Given the description of an element on the screen output the (x, y) to click on. 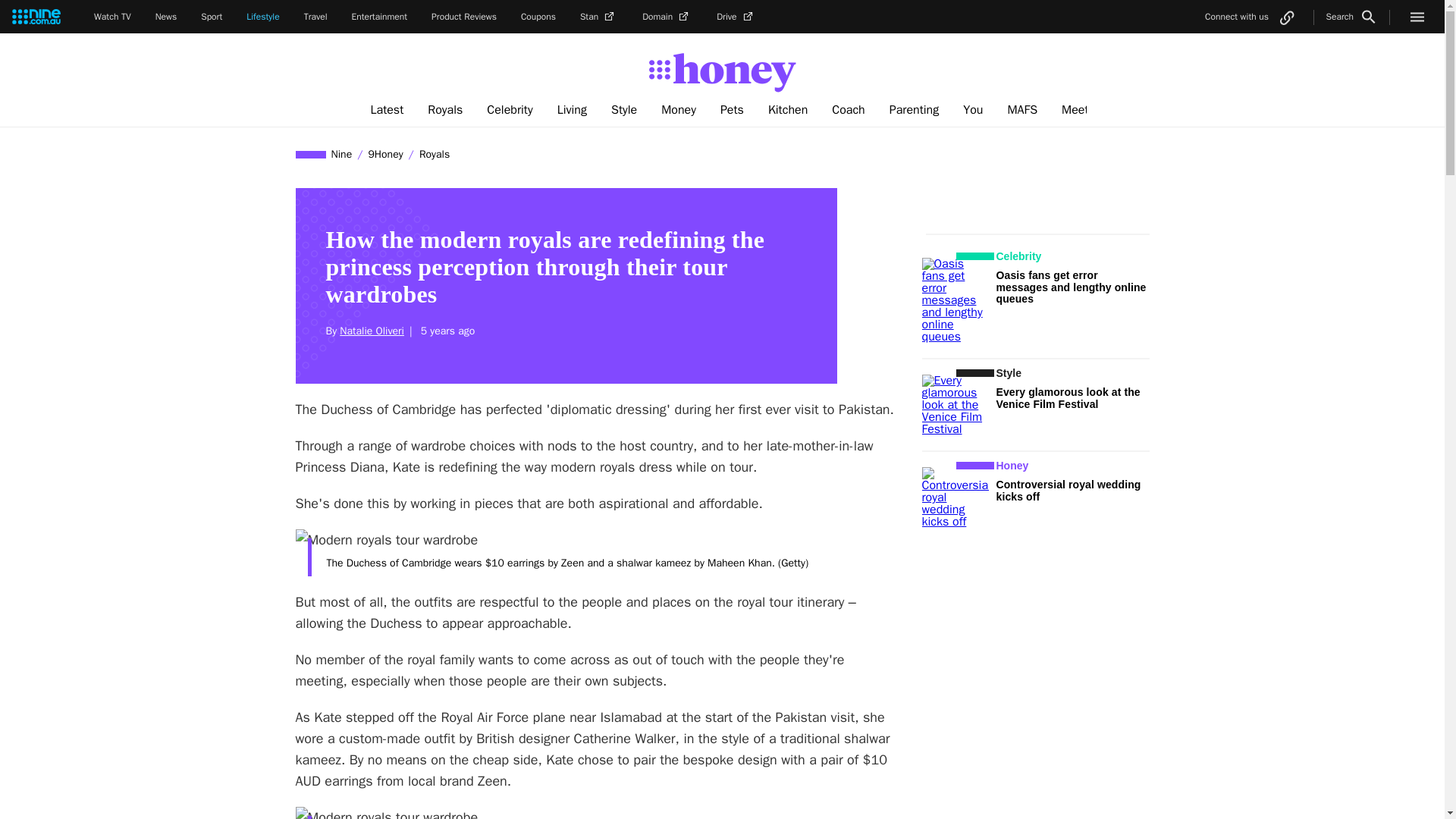
2019-10-19 21:40 (445, 330)
Royals (444, 109)
Entertainment (379, 16)
Lifestyle (262, 16)
Latest (386, 109)
Drive (735, 16)
Domain (667, 16)
Living (571, 109)
Celebrity (509, 109)
Stan (598, 16)
